Given the description of an element on the screen output the (x, y) to click on. 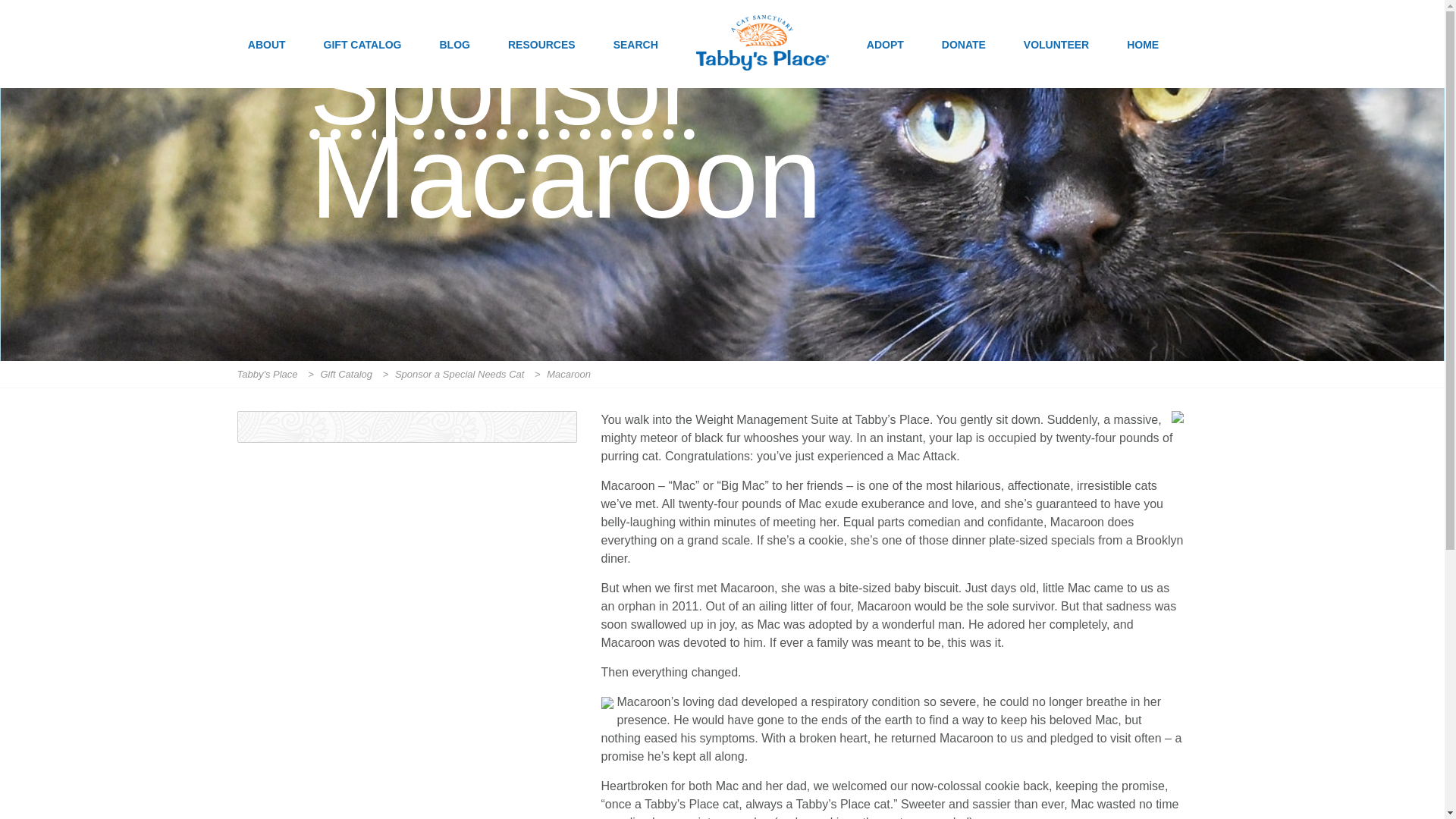
RESOURCES (541, 62)
SEARCH (635, 62)
DONATE (963, 62)
GIFT CATALOG (362, 62)
